Given the description of an element on the screen output the (x, y) to click on. 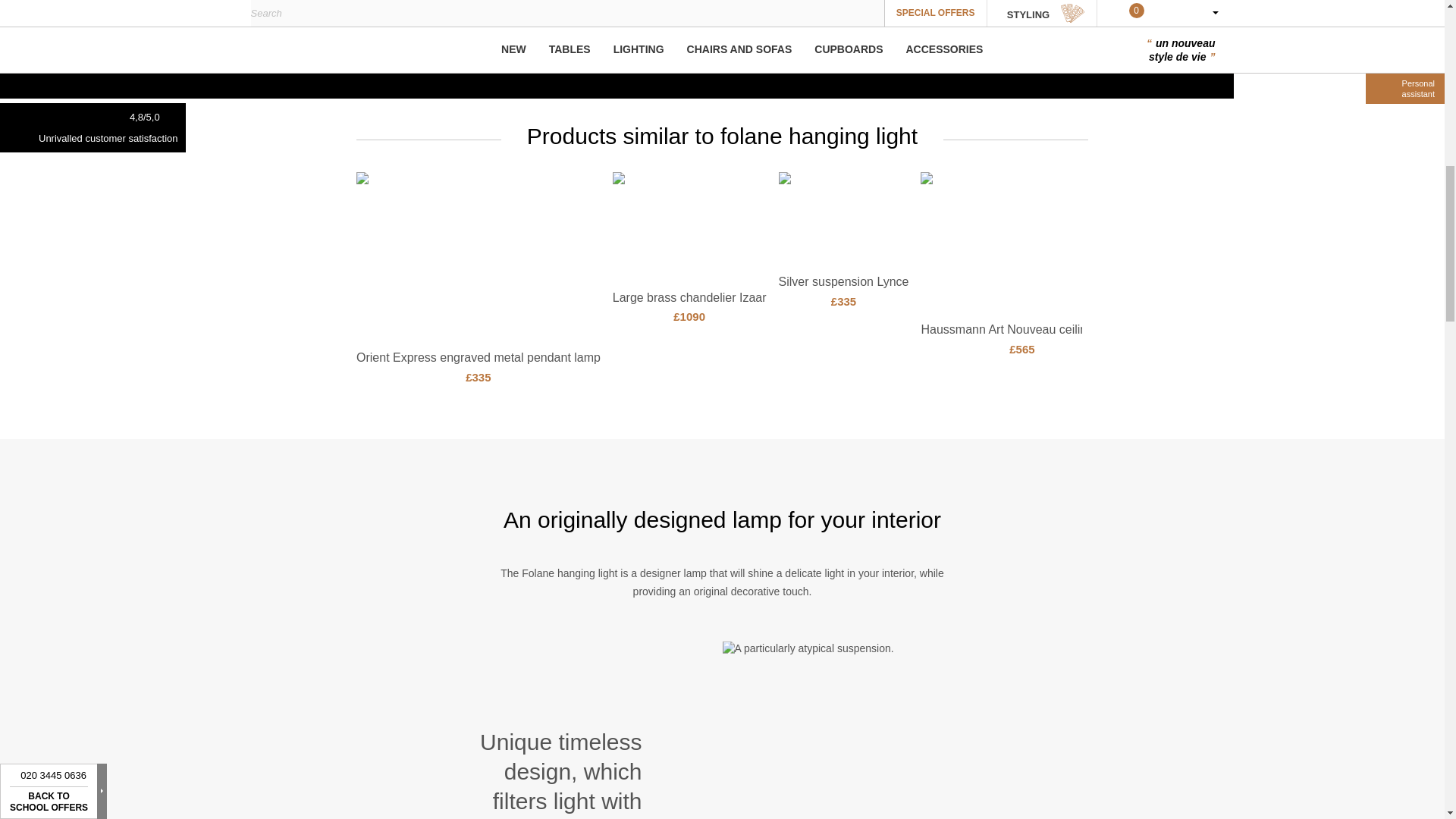
Large brass chandelier Izaar (689, 297)
Silver suspension Lynce (843, 281)
Orient Express engraved metal pendant lamp (477, 357)
Haussmann Art Nouveau ceiling lamp (1021, 328)
